Given the description of an element on the screen output the (x, y) to click on. 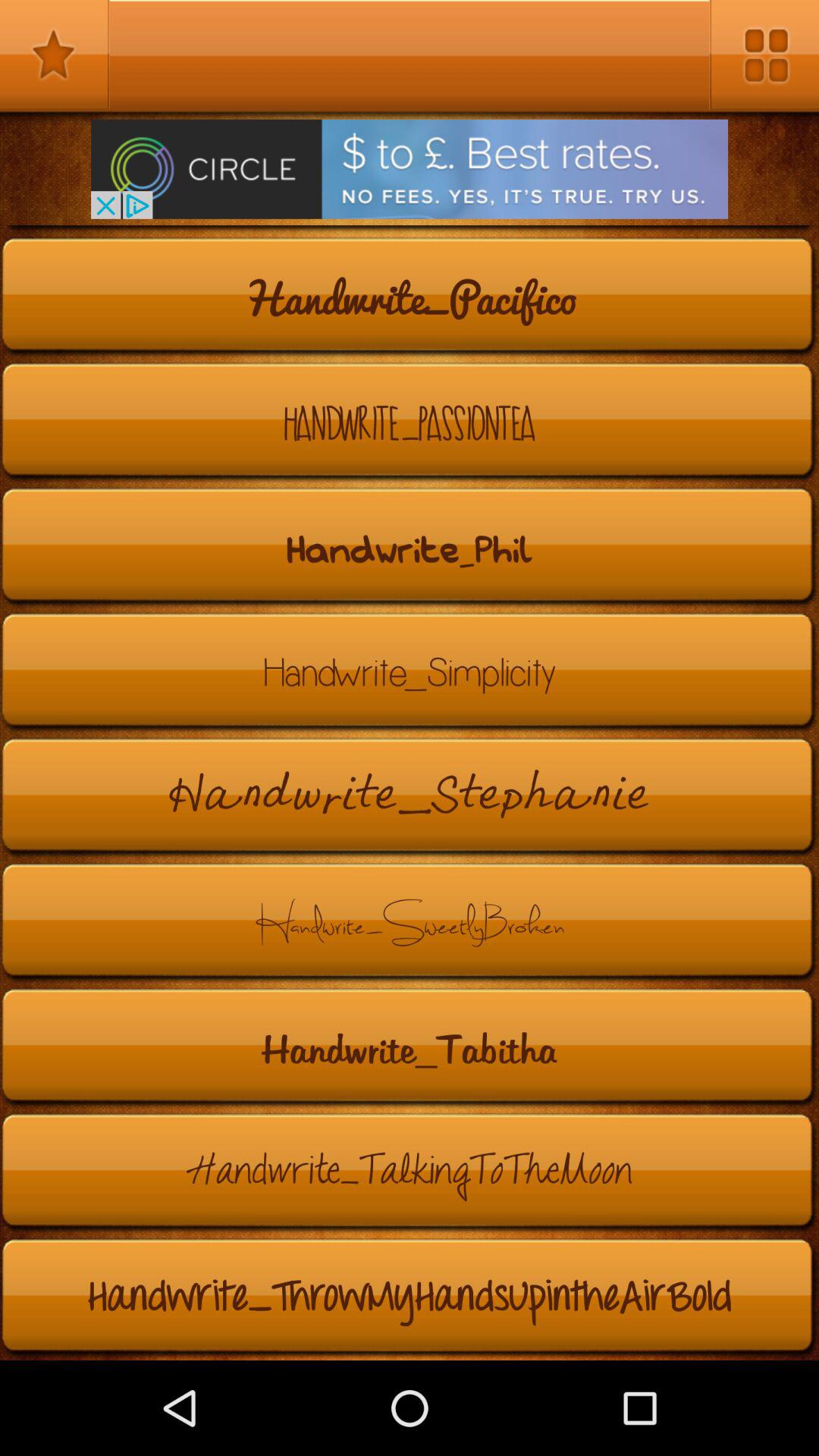
to select bookmark (54, 54)
